Given the description of an element on the screen output the (x, y) to click on. 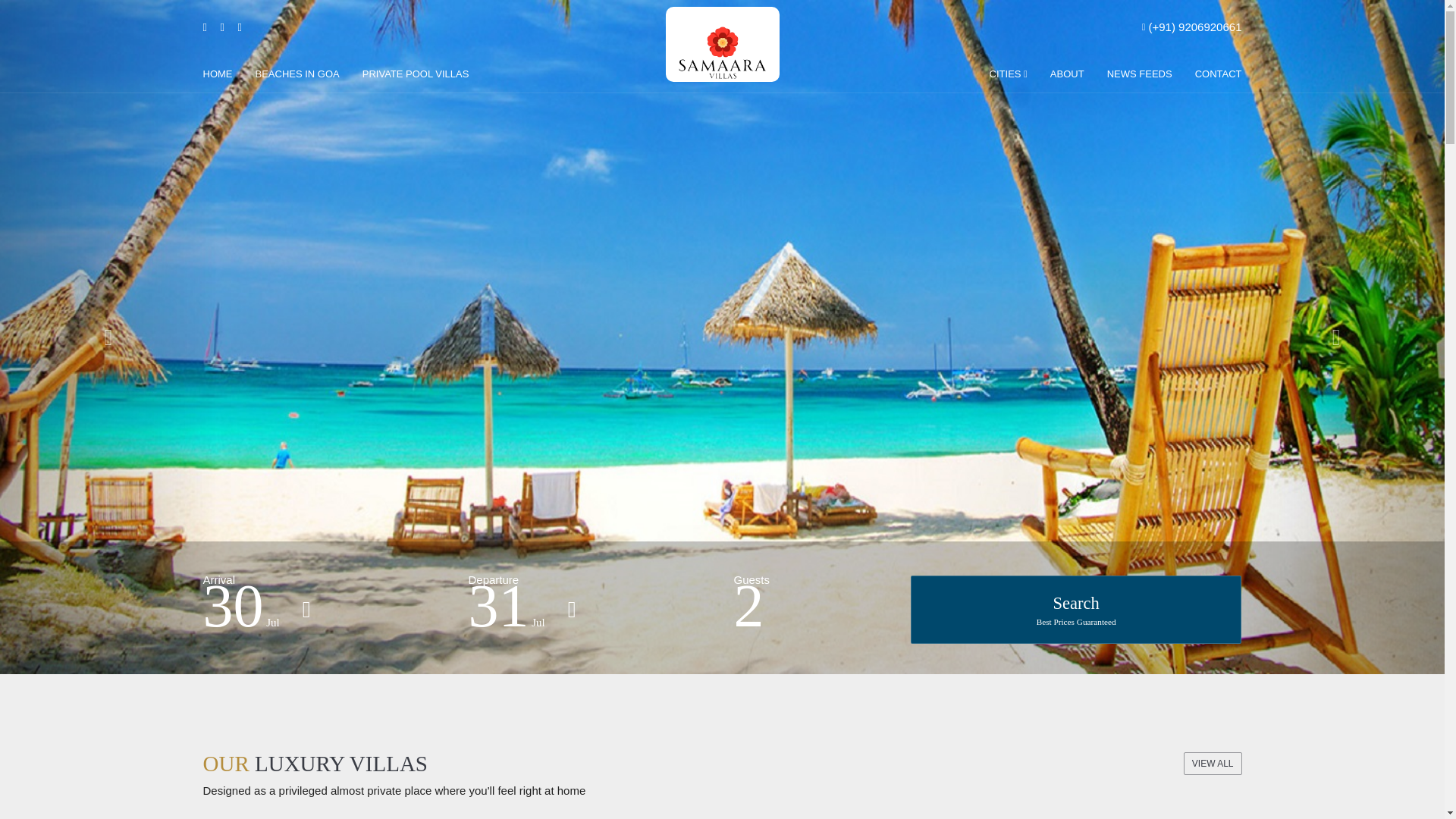
ABOUT (1067, 73)
NEWS FEEDS (1139, 73)
BEACHES IN GOA (297, 73)
CONTACT (1212, 73)
VIEW ALL (1212, 763)
Samaara Villas (721, 43)
HOME (1076, 609)
PRIVATE POOL VILLAS (223, 73)
CITIES (409, 73)
2 (1014, 73)
